Given the description of an element on the screen output the (x, y) to click on. 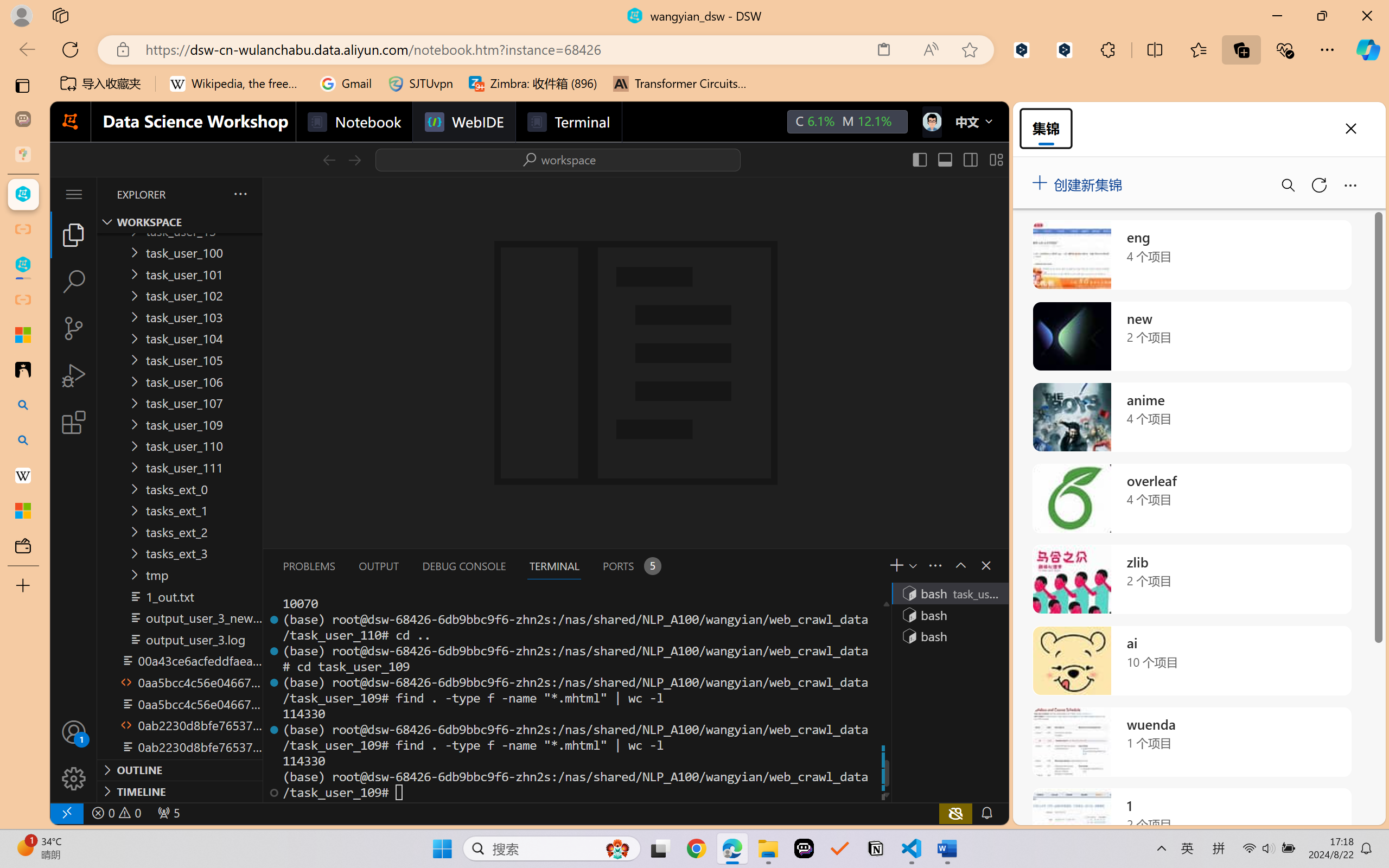
Output (Ctrl+Shift+U) (377, 565)
Outline Section (179, 769)
Gmail (345, 83)
Class: menubar compact overflow-menu-only inactive (73, 194)
Source Control (Ctrl+Shift+G) (73, 328)
Class: xterm-decoration-overview-ruler (885, 697)
remote (66, 812)
Wikipedia, the free encyclopedia (236, 83)
